Given the description of an element on the screen output the (x, y) to click on. 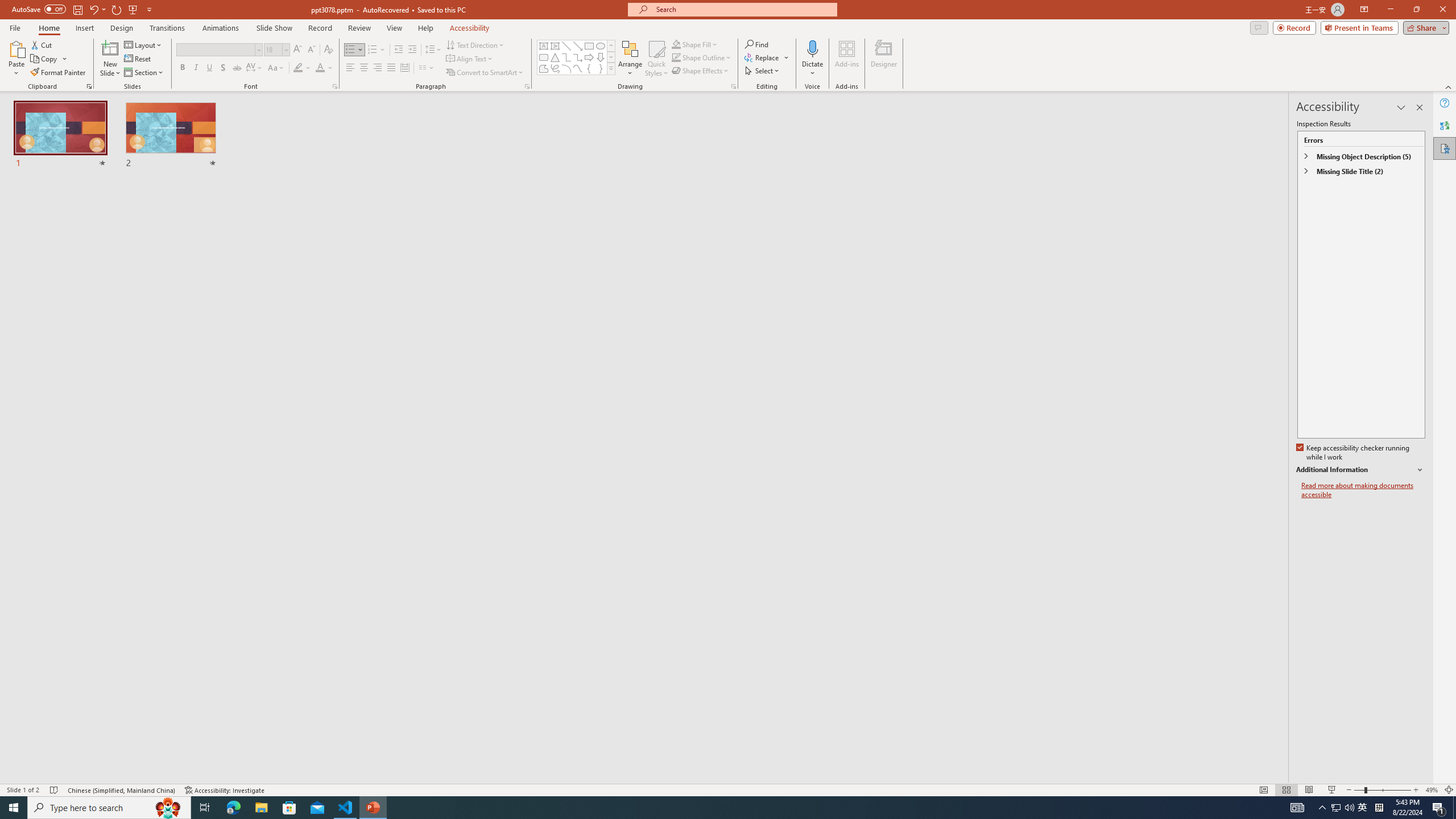
Shape Fill Dark Green, Accent 2 (675, 44)
